Given the description of an element on the screen output the (x, y) to click on. 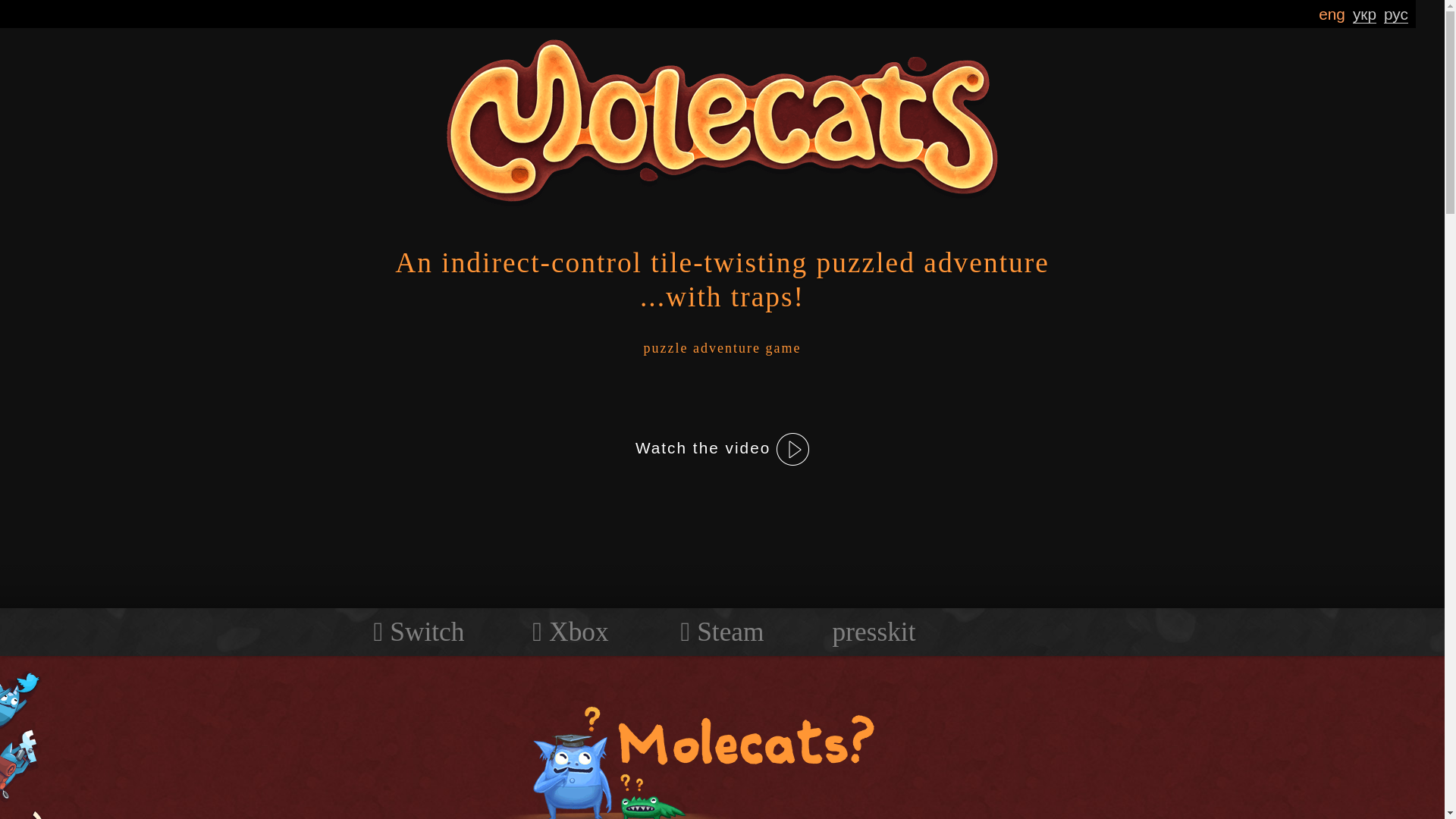
Molecats on Twitter (30, 699)
Watch the video (721, 449)
Molecats (721, 123)
About Molecats! (684, 753)
Xbox (570, 631)
presskit (873, 631)
Steam (720, 631)
Molecats on Discord (30, 810)
Switch (418, 631)
